Given the description of an element on the screen output the (x, y) to click on. 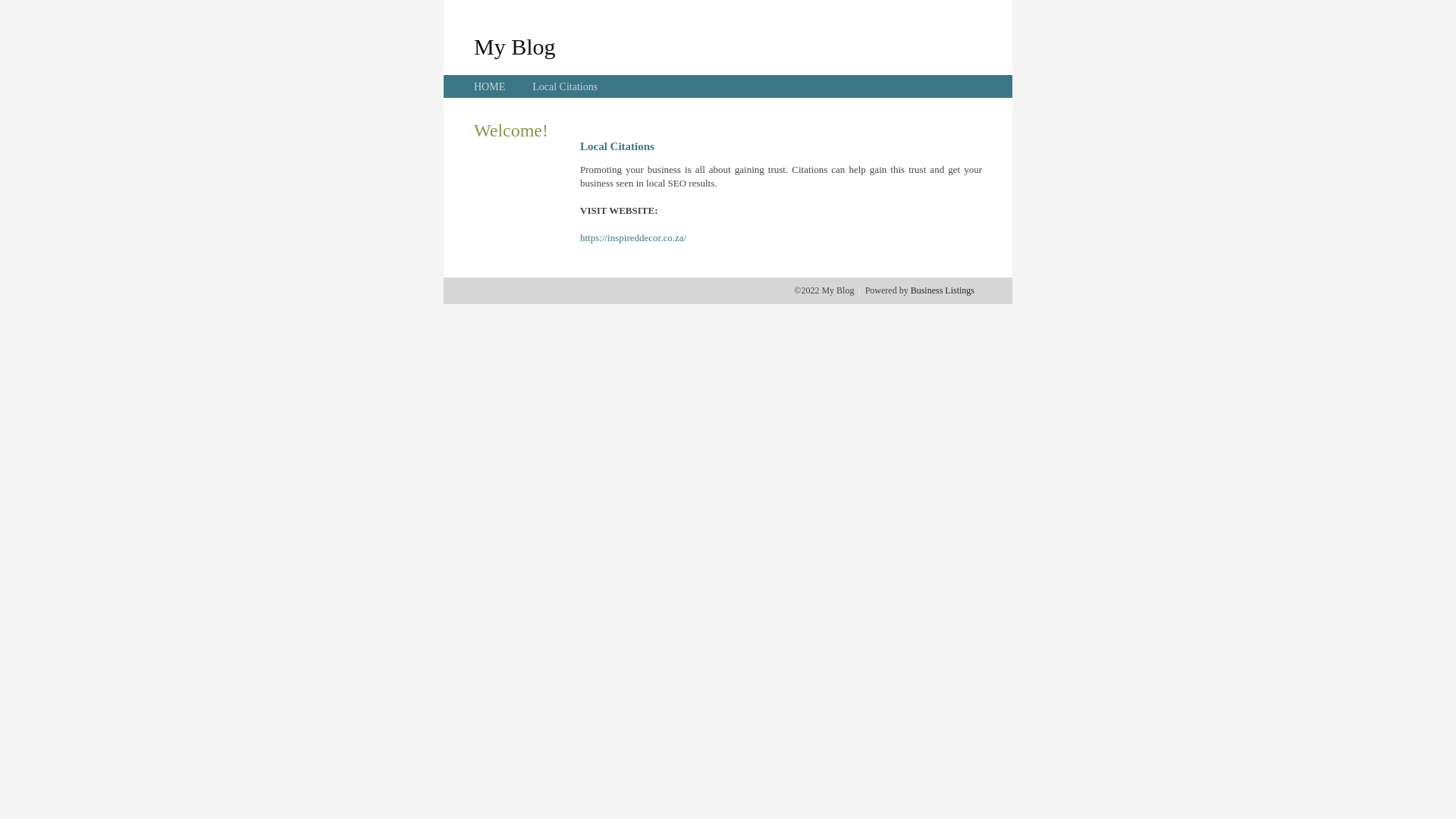
Business Listings Element type: text (942, 290)
HOME Element type: text (489, 86)
My Blog Element type: text (514, 46)
https://inspireddecor.co.za/ Element type: text (633, 237)
Local Citations Element type: text (564, 86)
